Given the description of an element on the screen output the (x, y) to click on. 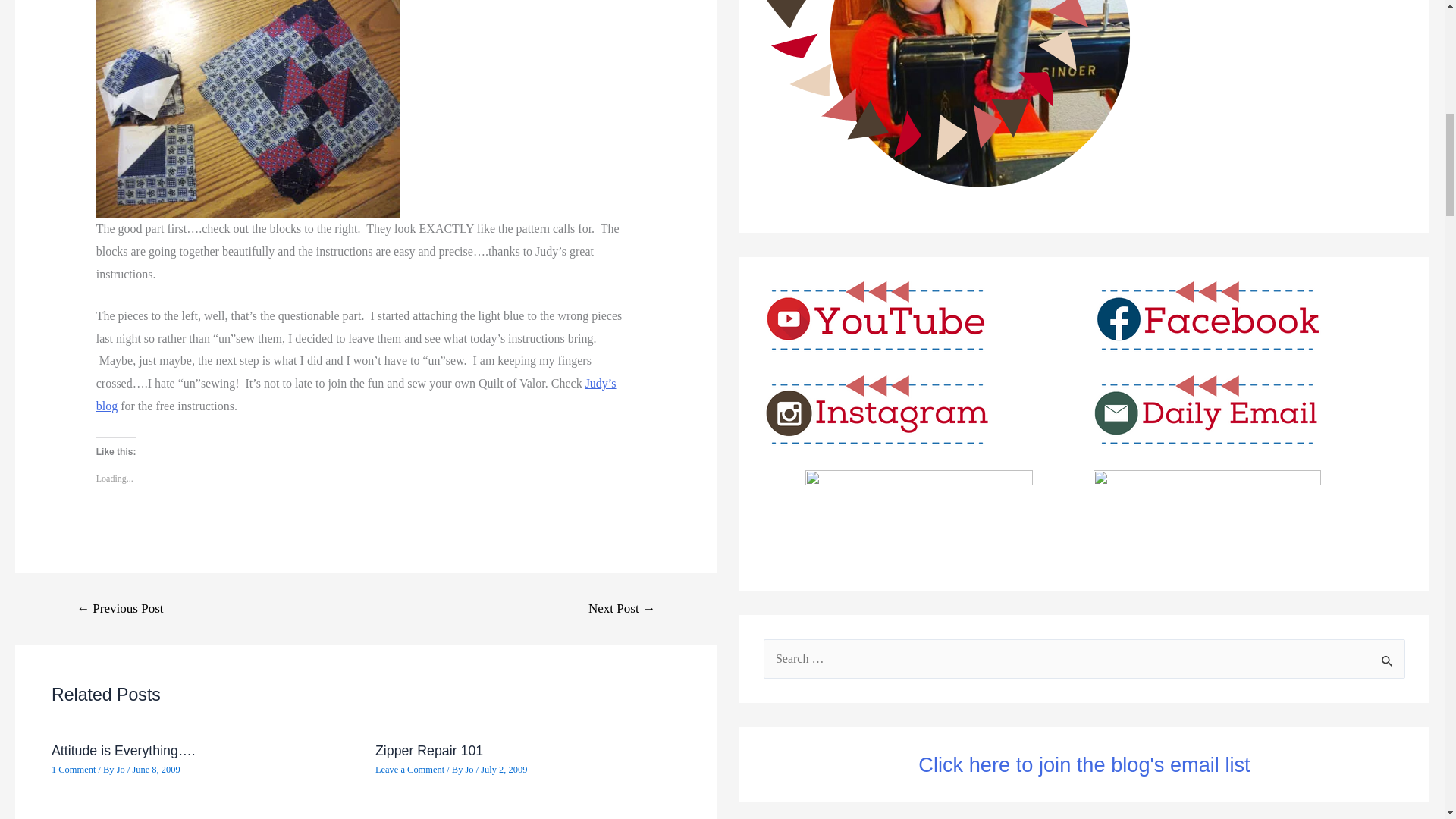
QOV-1 (247, 108)
View all posts by Jo (122, 769)
View all posts by Jo (470, 769)
